Given the description of an element on the screen output the (x, y) to click on. 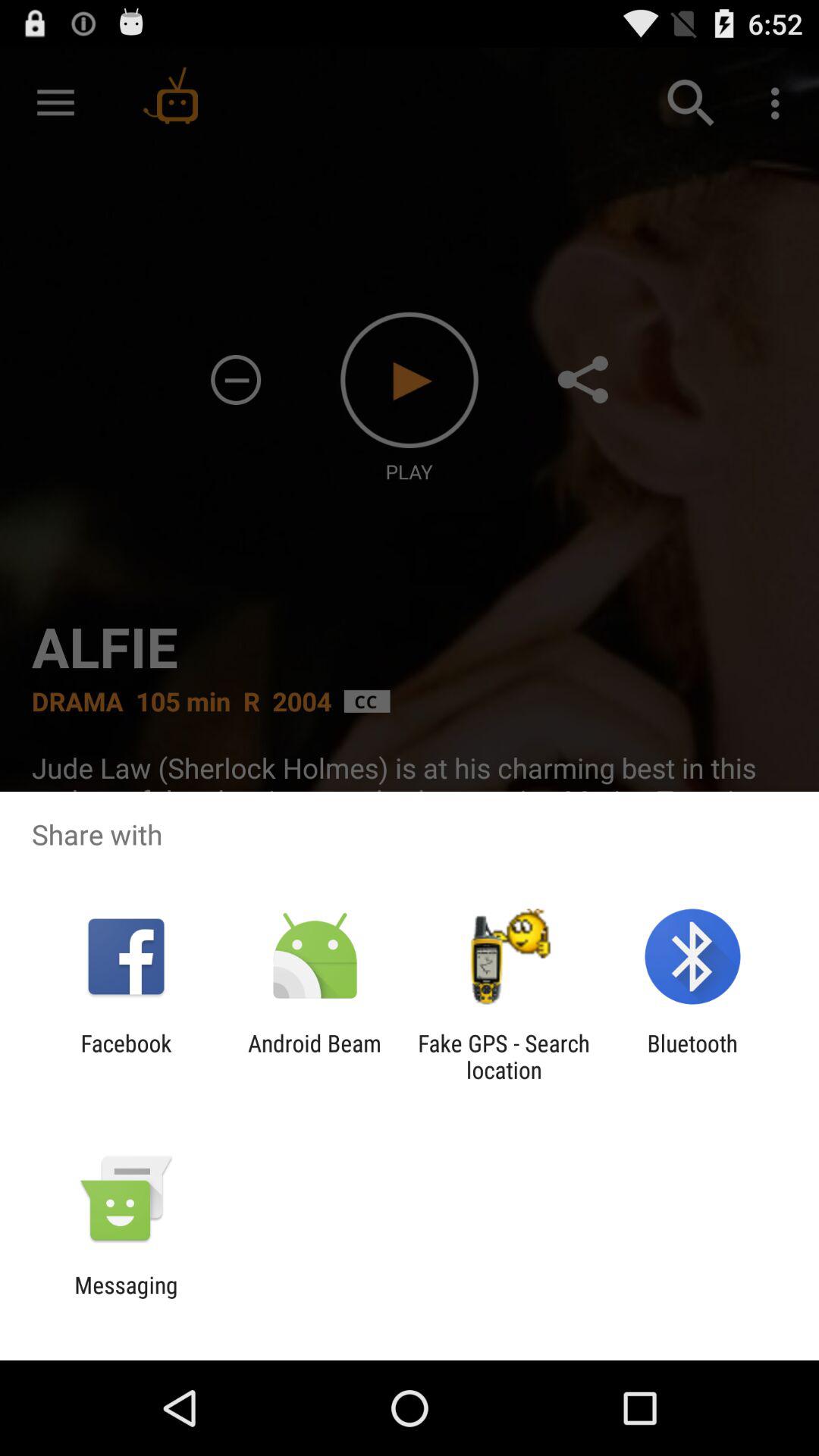
choose icon next to the bluetooth icon (503, 1056)
